Given the description of an element on the screen output the (x, y) to click on. 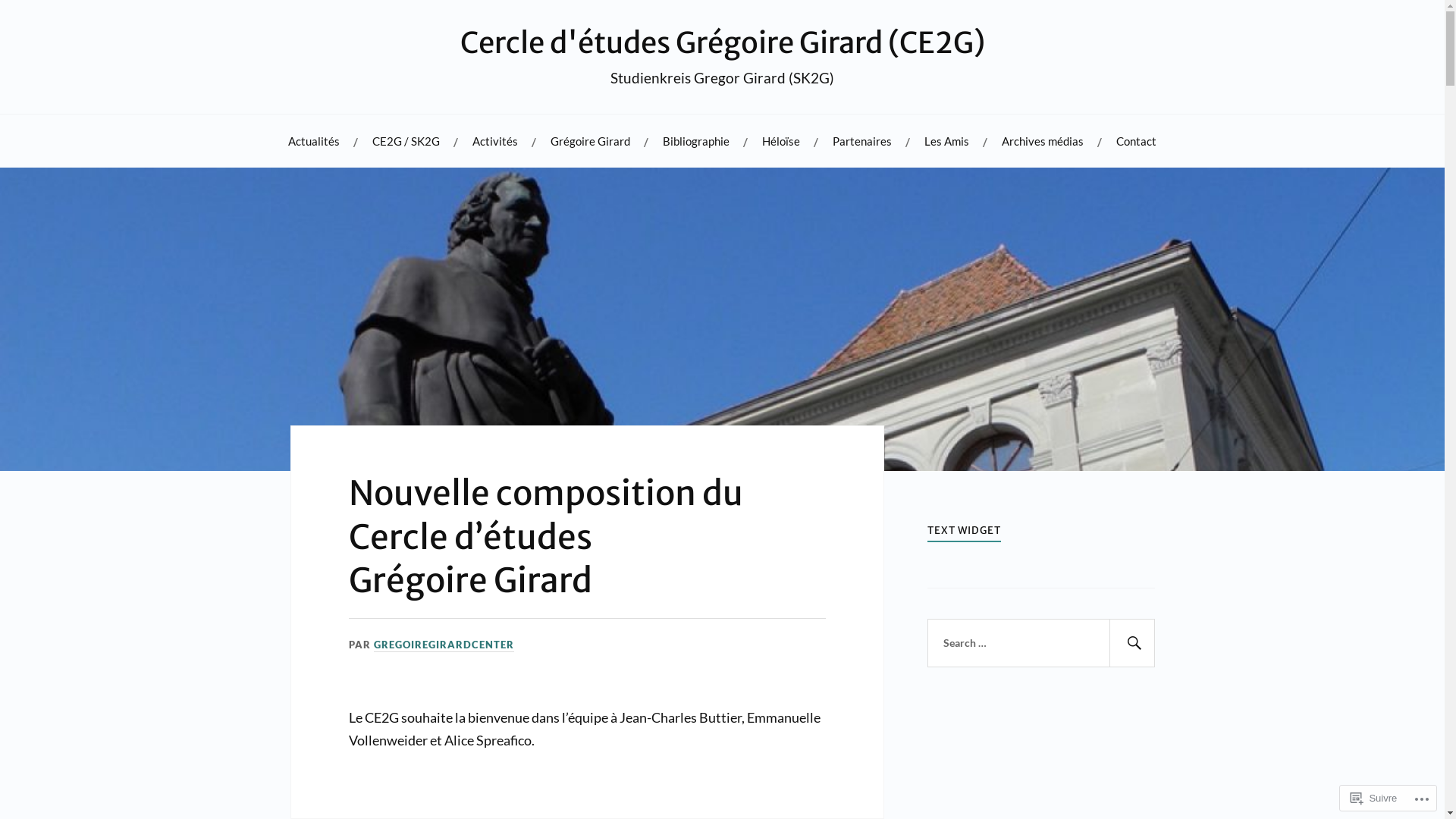
Les Amis Element type: text (946, 140)
Partenaires Element type: text (861, 140)
Suivre Element type: text (1373, 797)
Bibliographie Element type: text (695, 140)
GREGOIREGIRARDCENTER Element type: text (443, 645)
CE2G / SK2G Element type: text (405, 140)
Contact Element type: text (1136, 140)
